Given the description of an element on the screen output the (x, y) to click on. 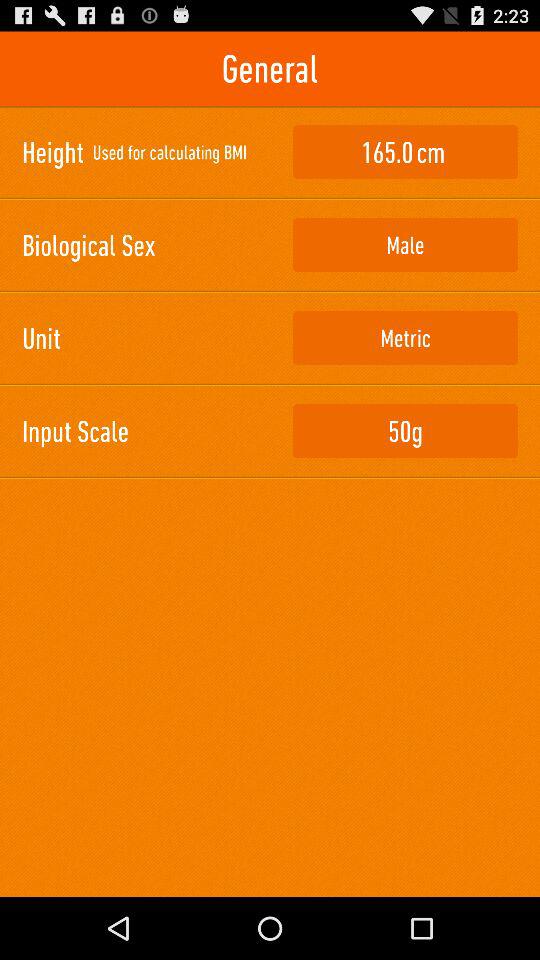
press the icon to the right of used for calculating (405, 152)
